Given the description of an element on the screen output the (x, y) to click on. 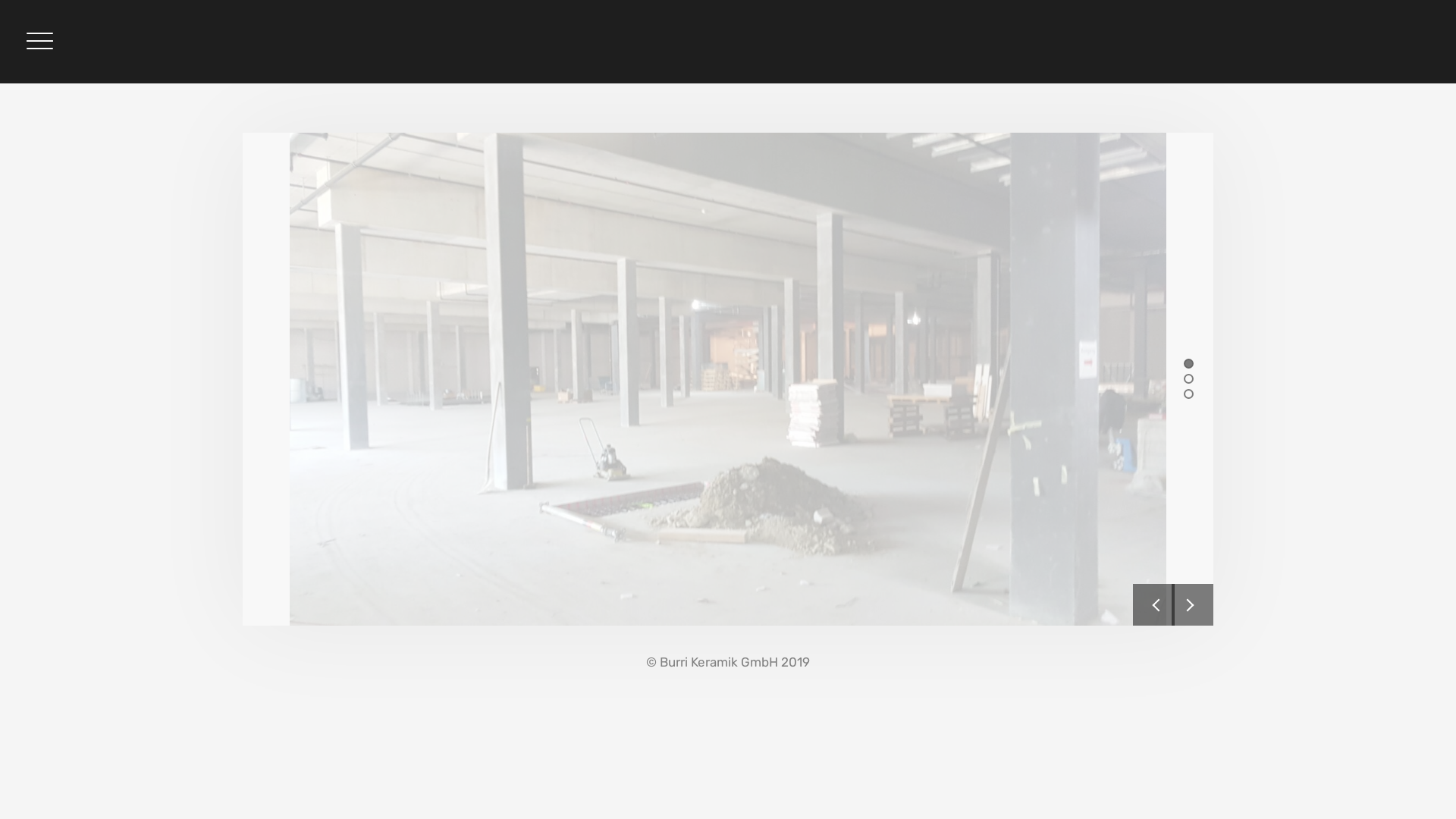
2 Element type: text (1188, 377)
1 Element type: text (1188, 362)
3 Element type: text (1188, 393)
